Given the description of an element on the screen output the (x, y) to click on. 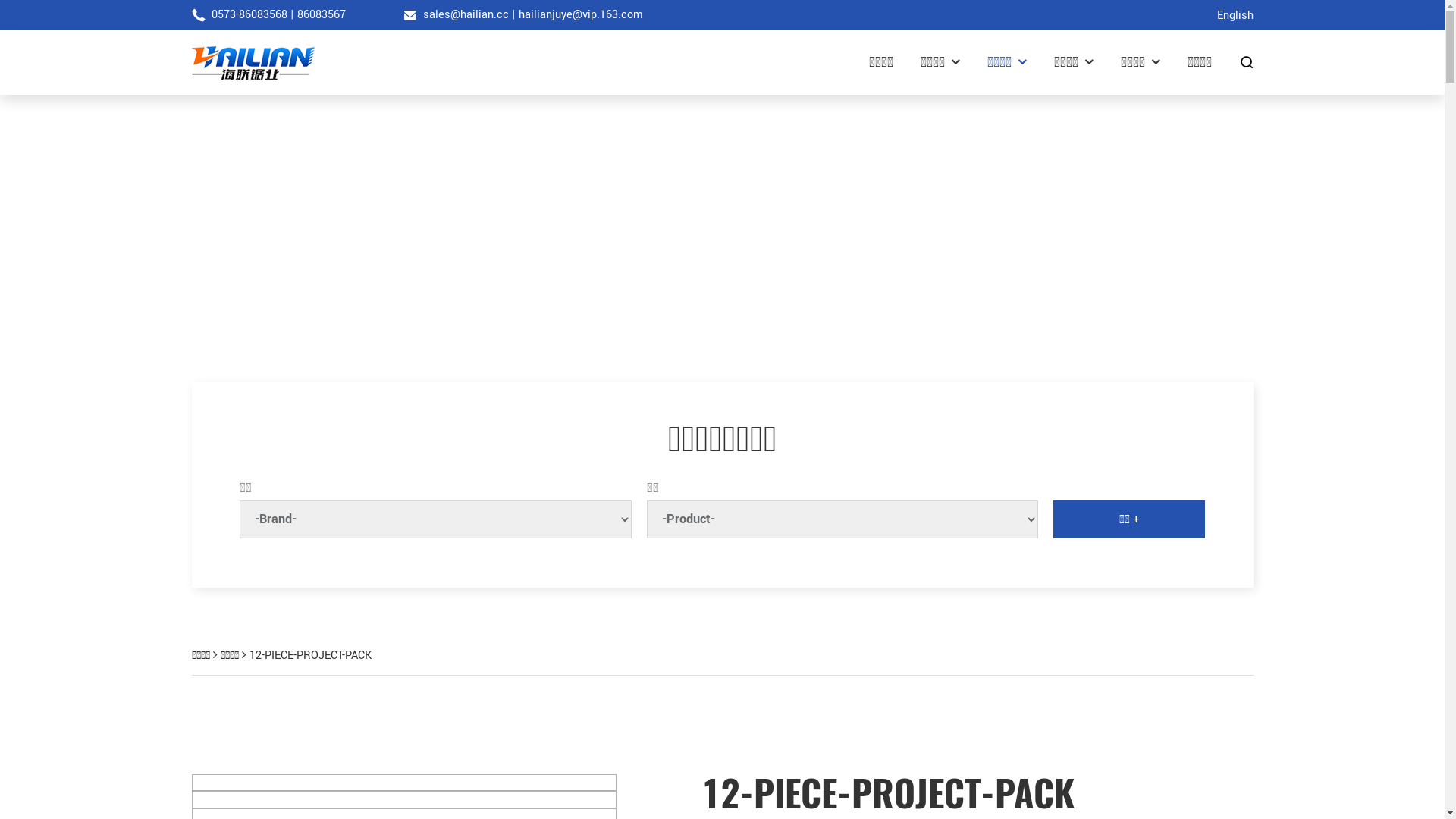
English Element type: text (1234, 15)
